Given the description of an element on the screen output the (x, y) to click on. 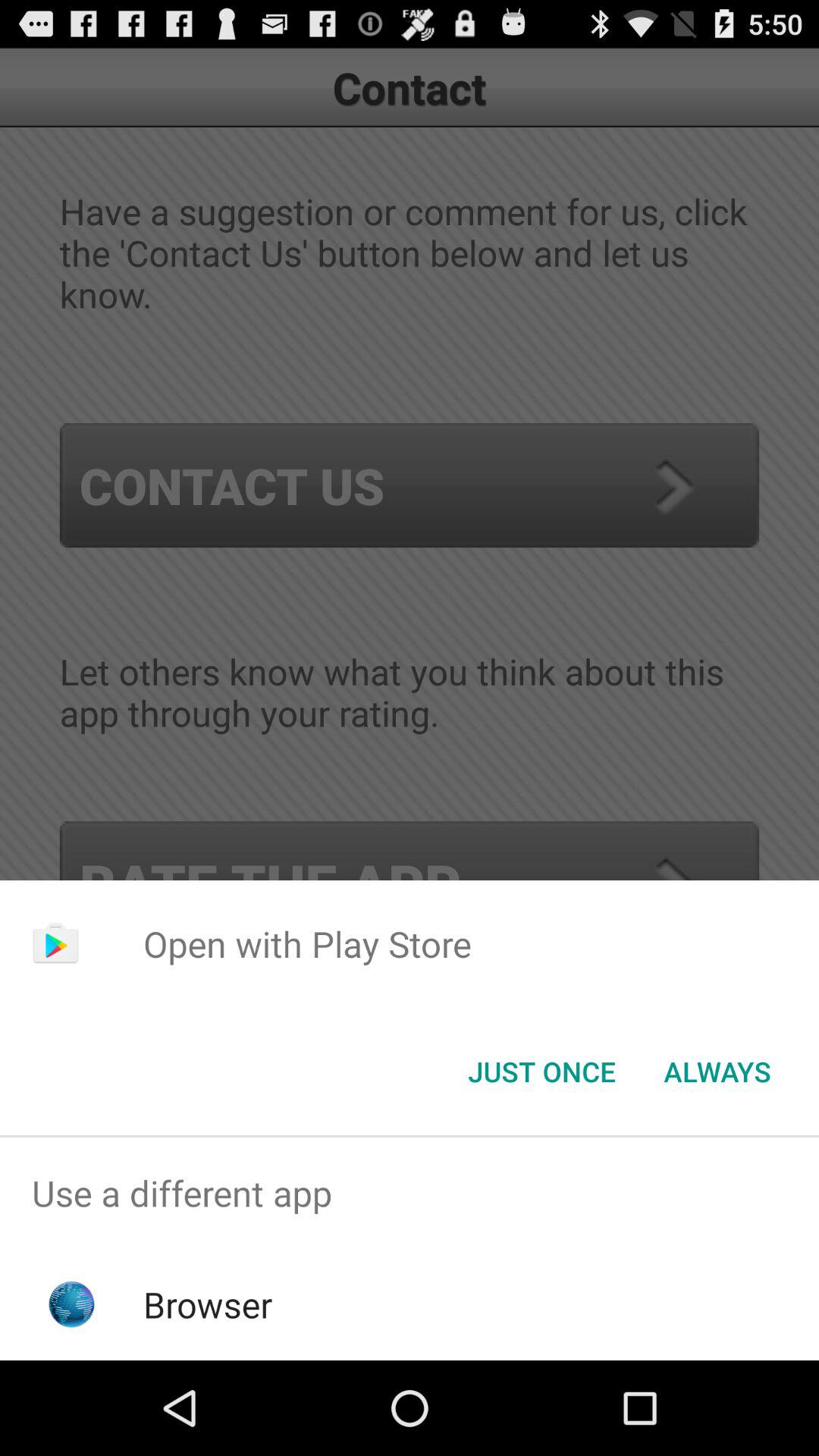
open the icon below open with play app (541, 1071)
